Given the description of an element on the screen output the (x, y) to click on. 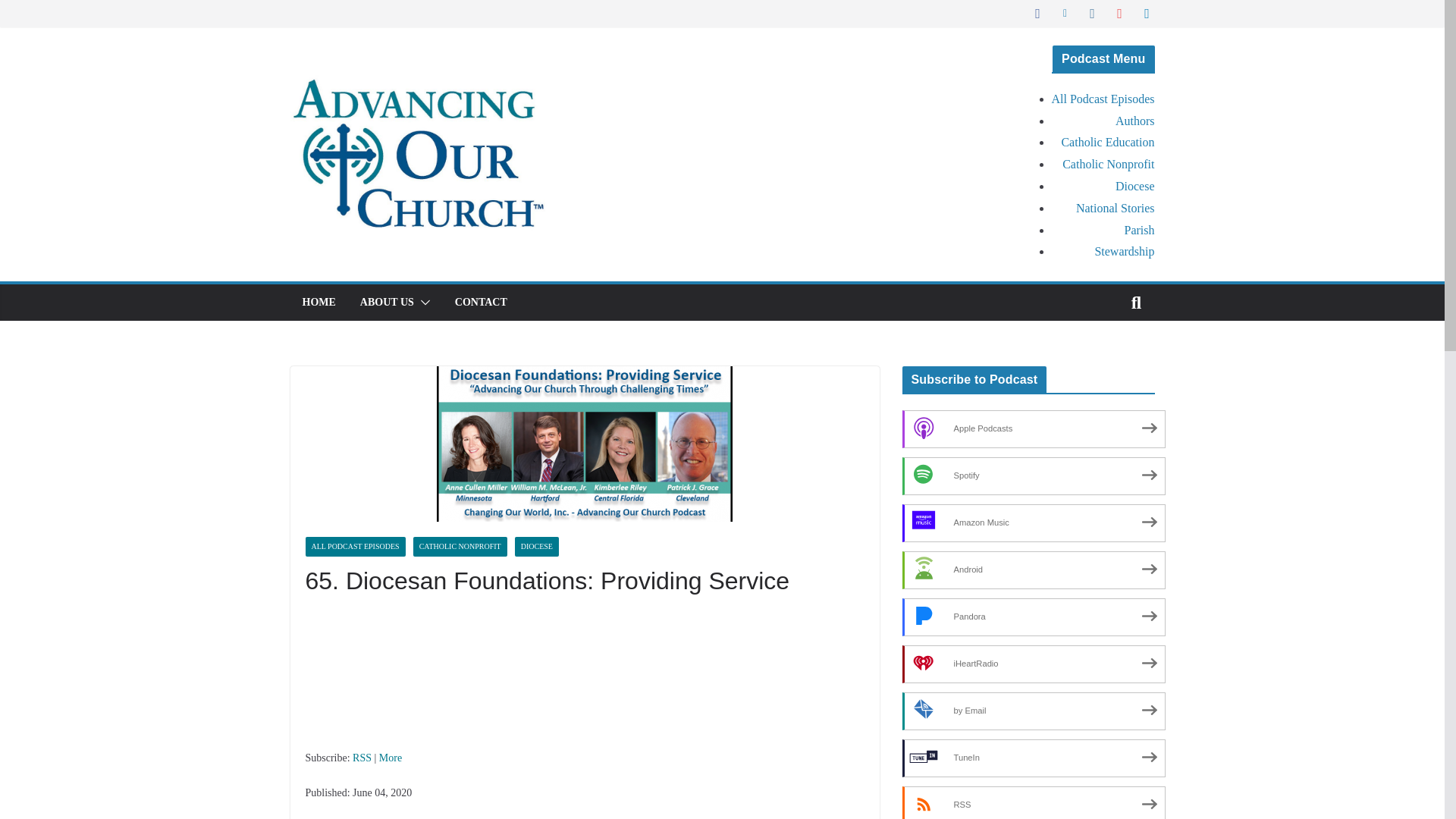
Parish (1139, 229)
Blubrry Podcast Player (583, 678)
More (389, 757)
Catholic Nonprofit (1108, 164)
ABOUT US (386, 301)
CONTACT (480, 301)
HOME (317, 301)
More (389, 757)
Stewardship (1124, 250)
Subscribe via RSS (1034, 802)
Subscribe on Android (1034, 569)
Subscribe on Pandora (1034, 617)
Diocese (1134, 185)
Catholic Education (1107, 141)
RSS (361, 757)
